Given the description of an element on the screen output the (x, y) to click on. 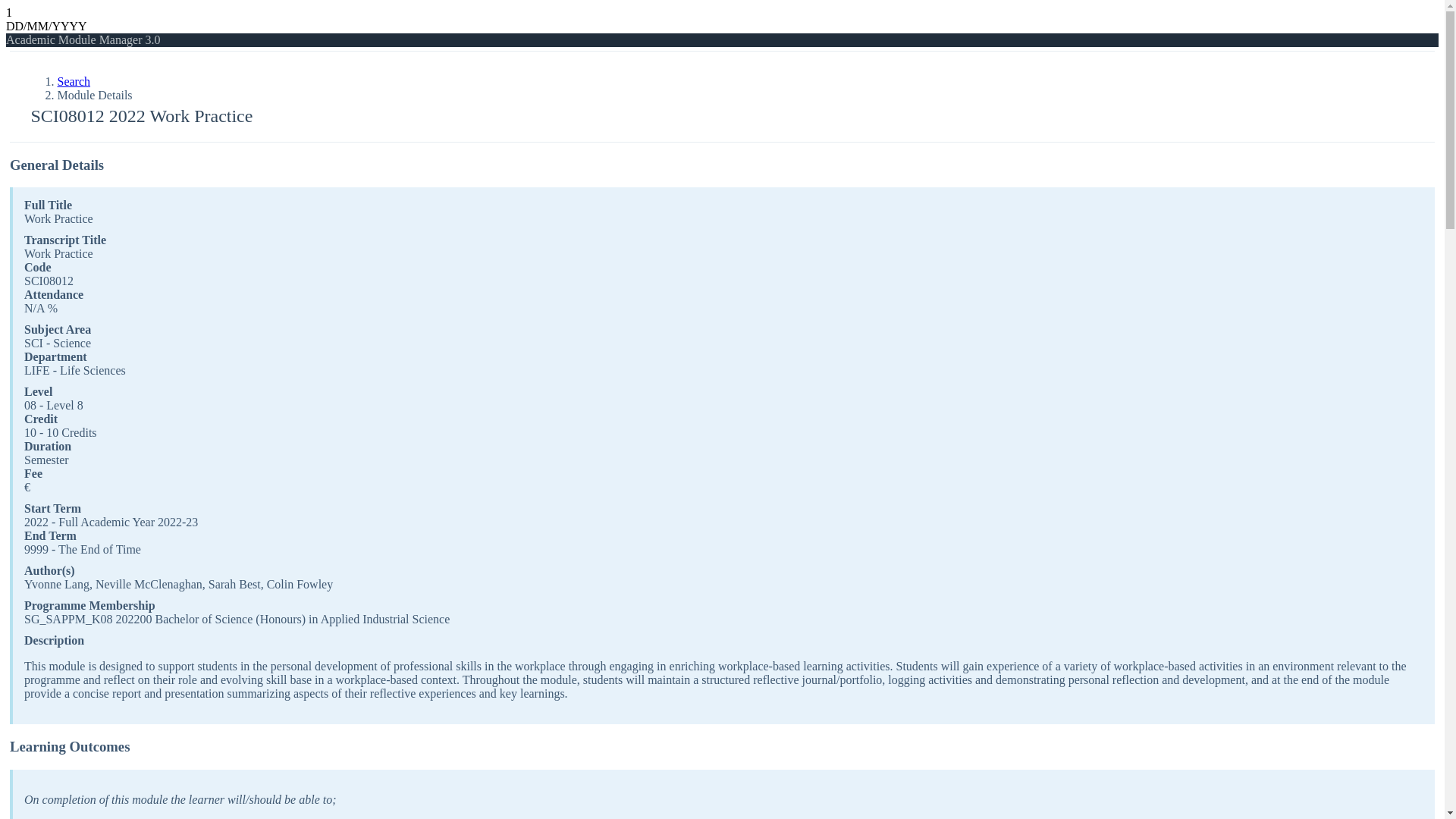
Search (74, 81)
